Given the description of an element on the screen output the (x, y) to click on. 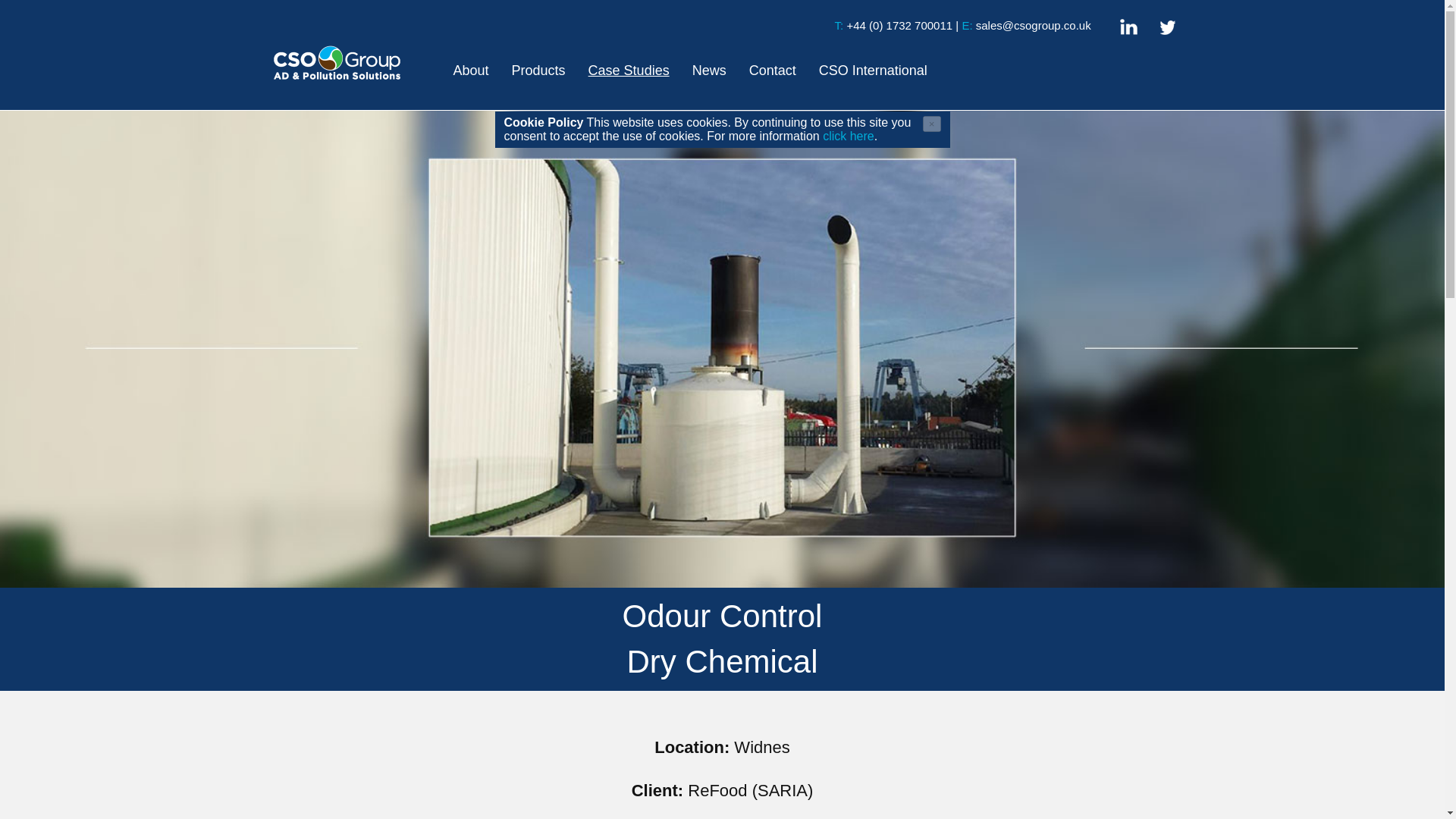
Contact (772, 70)
click here (848, 135)
Case Studies (628, 70)
CSO International (872, 70)
About (470, 70)
Products (539, 70)
News (709, 70)
